Given the description of an element on the screen output the (x, y) to click on. 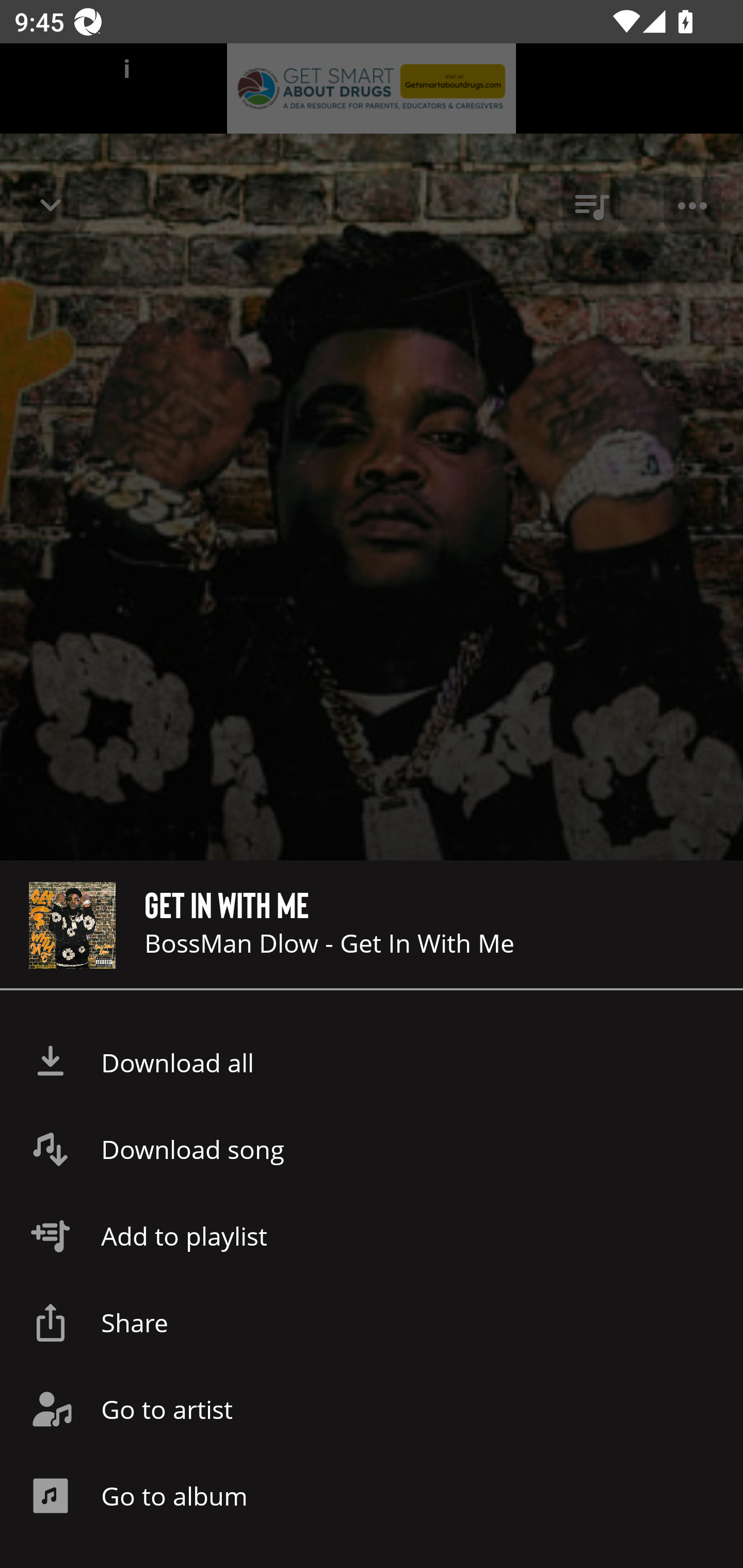
Download all (371, 1062)
Download song (371, 1149)
Add to playlist (371, 1236)
Share (371, 1322)
Go to artist (371, 1408)
Go to album (371, 1495)
